Given the description of an element on the screen output the (x, y) to click on. 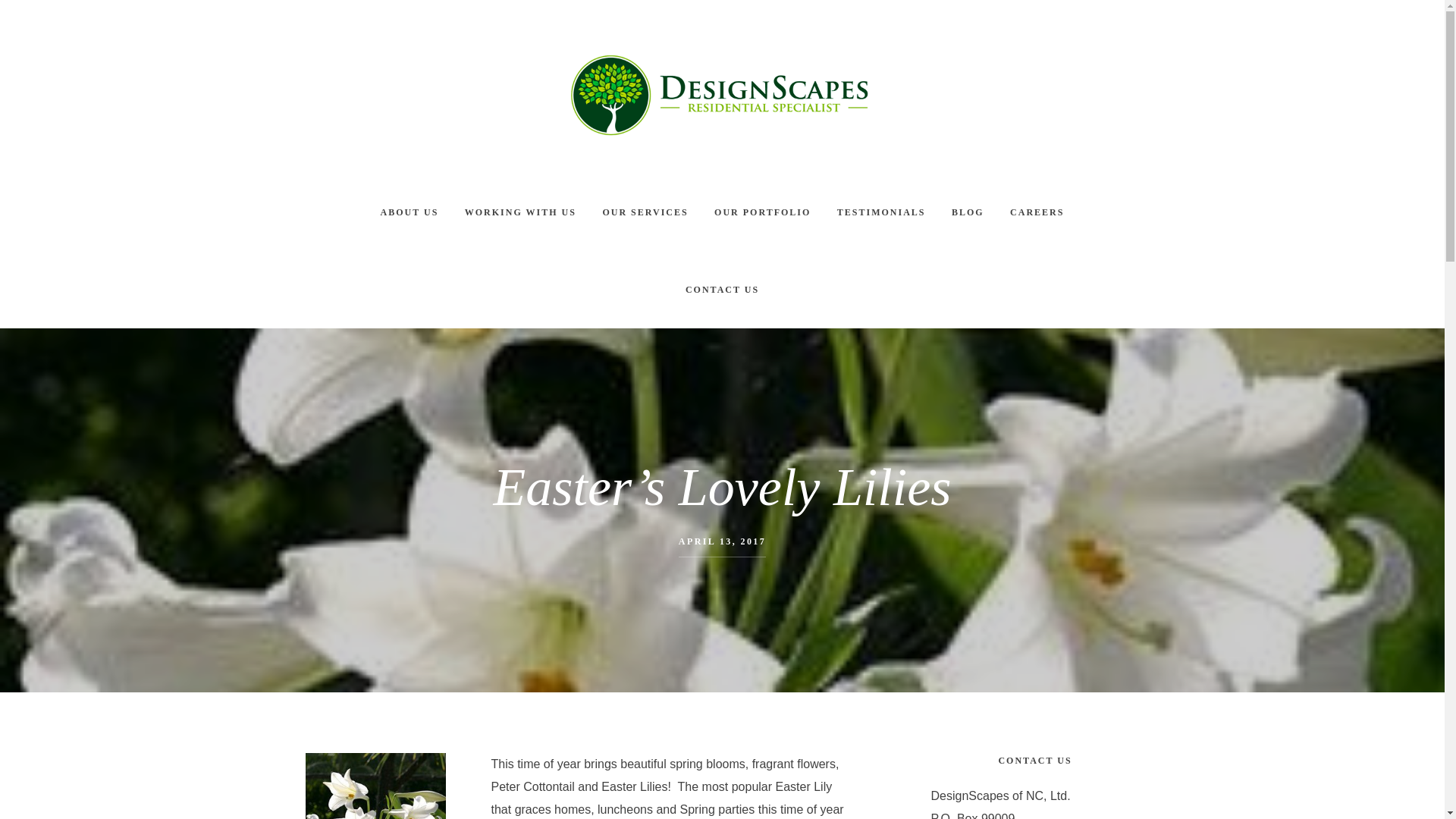
CONTACT US (722, 290)
OUR SERVICES (644, 212)
OUR PORTFOLIO (762, 212)
TESTIMONIALS (881, 212)
CAREERS (1036, 212)
DesignScapes of NC, Ltd. (721, 94)
WORKING WITH US (520, 212)
ABOUT US (409, 212)
